Given the description of an element on the screen output the (x, y) to click on. 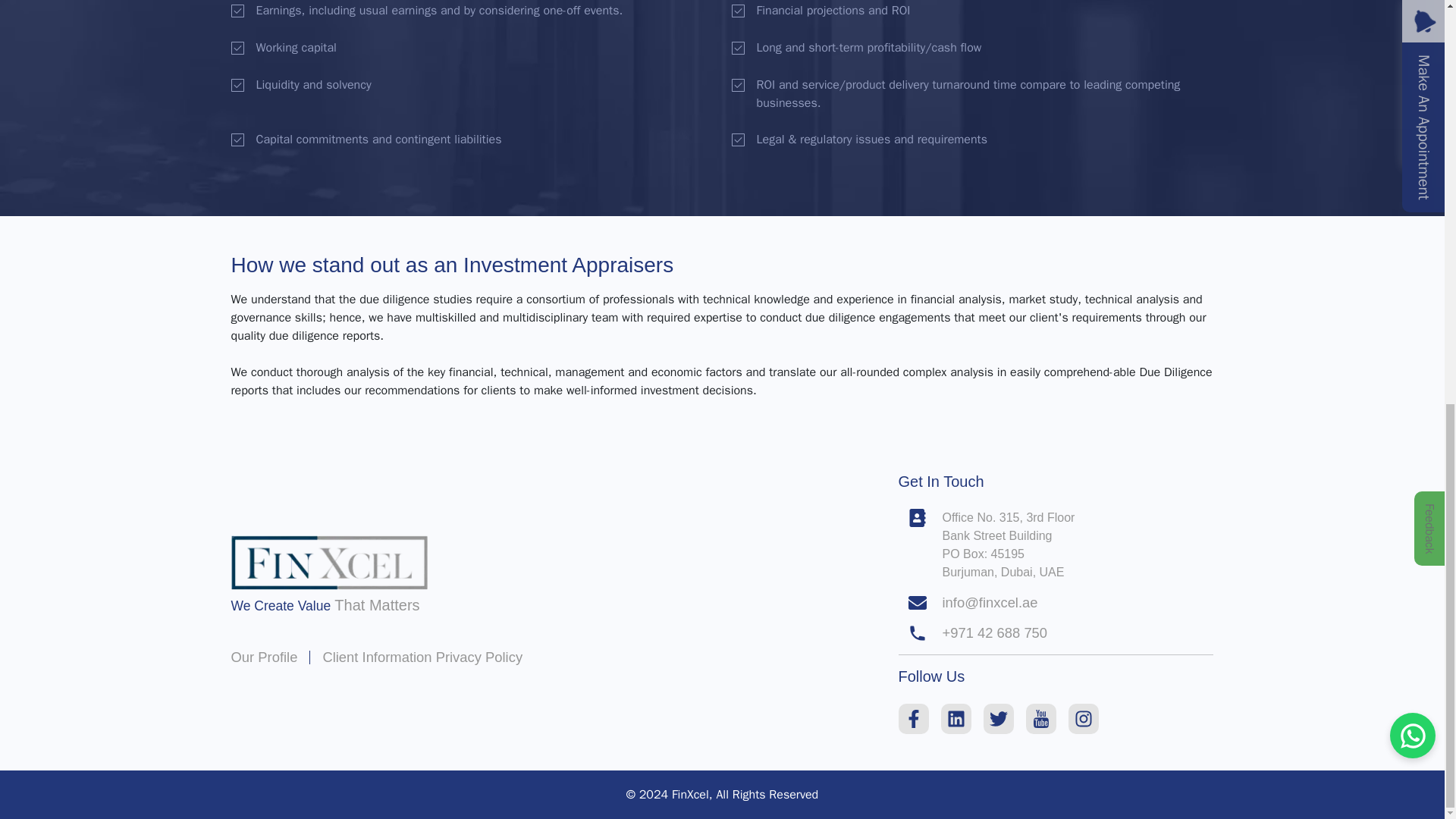
Client Information Privacy Policy (421, 657)
Our Profile (263, 657)
